Given the description of an element on the screen output the (x, y) to click on. 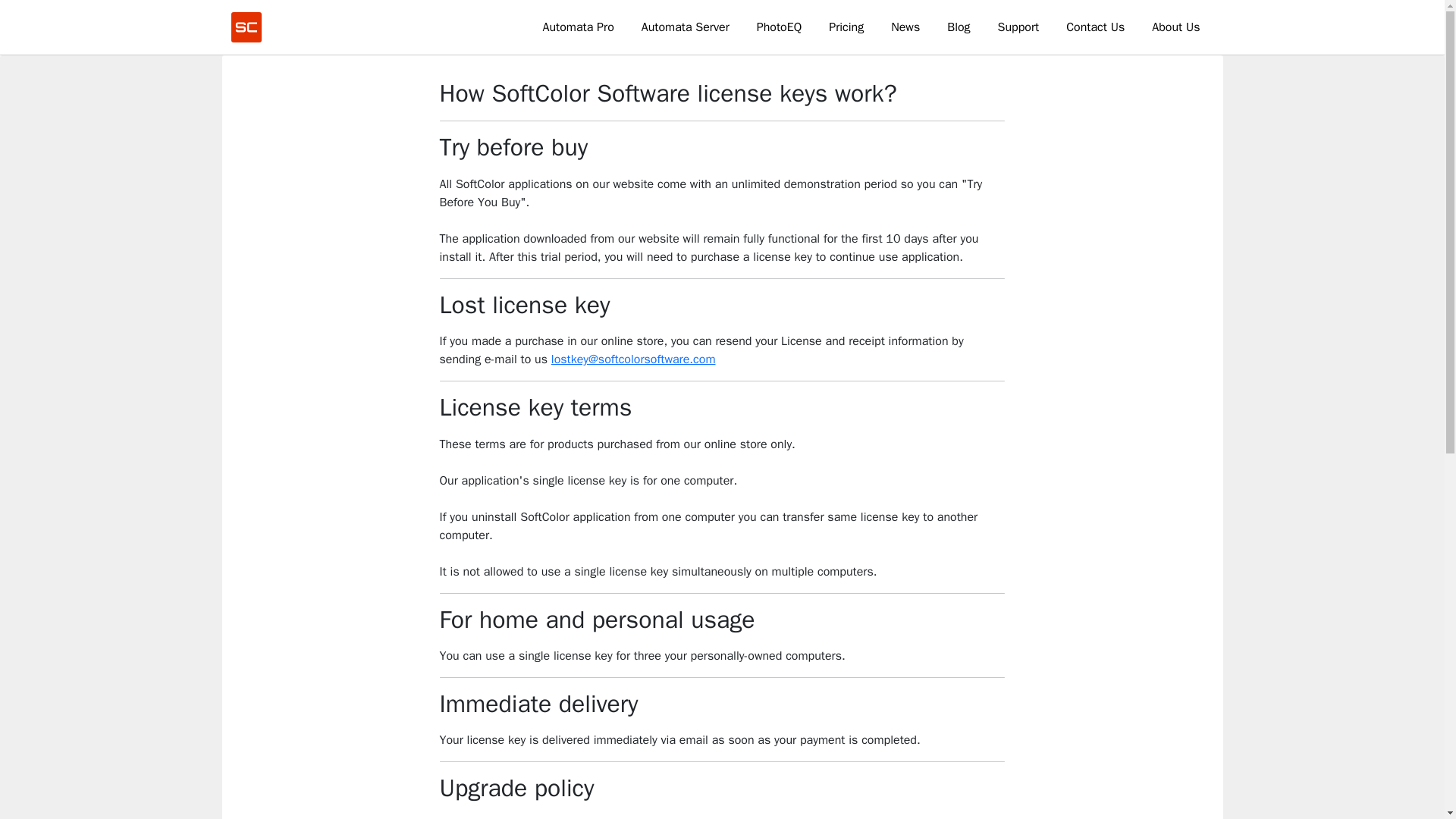
About Us (1175, 27)
Support (1018, 27)
Blog (958, 27)
Pricing (846, 27)
Automata Pro (577, 27)
Automata Server (684, 27)
News (905, 27)
PhotoEQ (778, 27)
Contact Us (1095, 27)
